Given the description of an element on the screen output the (x, y) to click on. 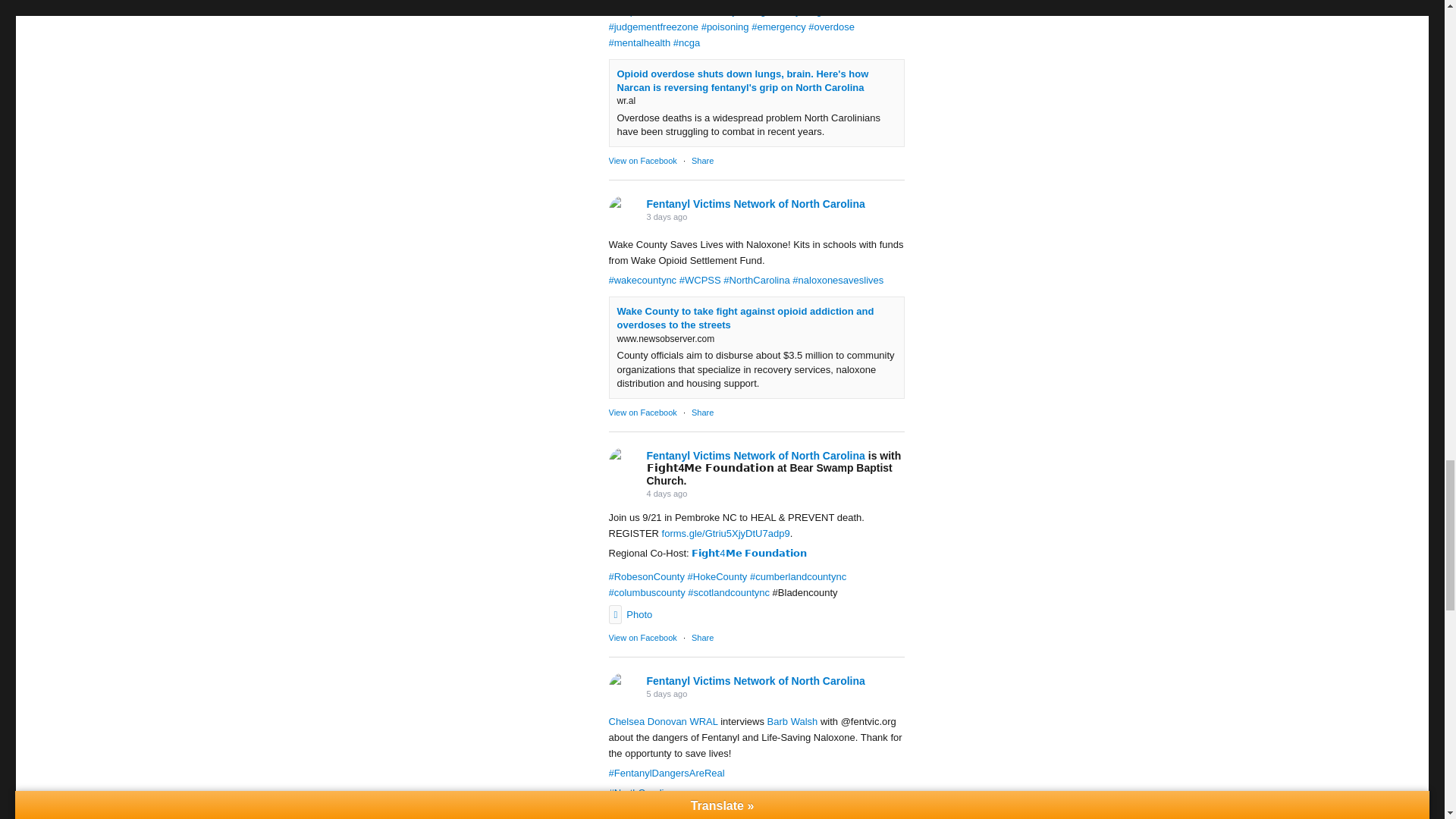
Fentanyl Victims Network of North Carolina (623, 462)
Share (702, 411)
Fentanyl Victims Network of North Carolina (623, 210)
View on Facebook (642, 411)
Share (702, 160)
View on Facebook (642, 160)
